Given the description of an element on the screen output the (x, y) to click on. 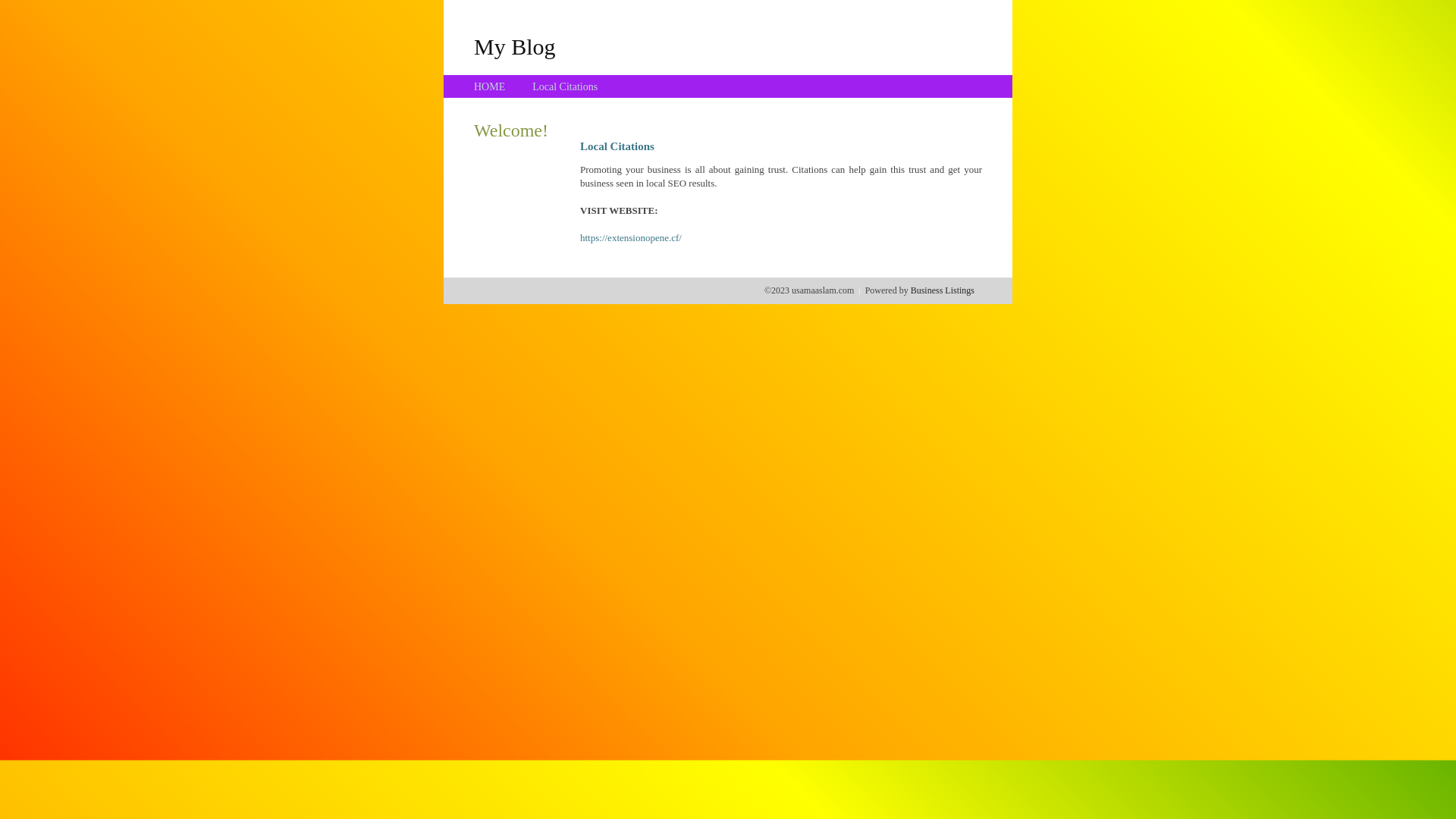
HOME Element type: text (489, 86)
https://extensionopene.cf/ Element type: text (630, 237)
Local Citations Element type: text (564, 86)
Business Listings Element type: text (942, 290)
My Blog Element type: text (514, 46)
